Given the description of an element on the screen output the (x, y) to click on. 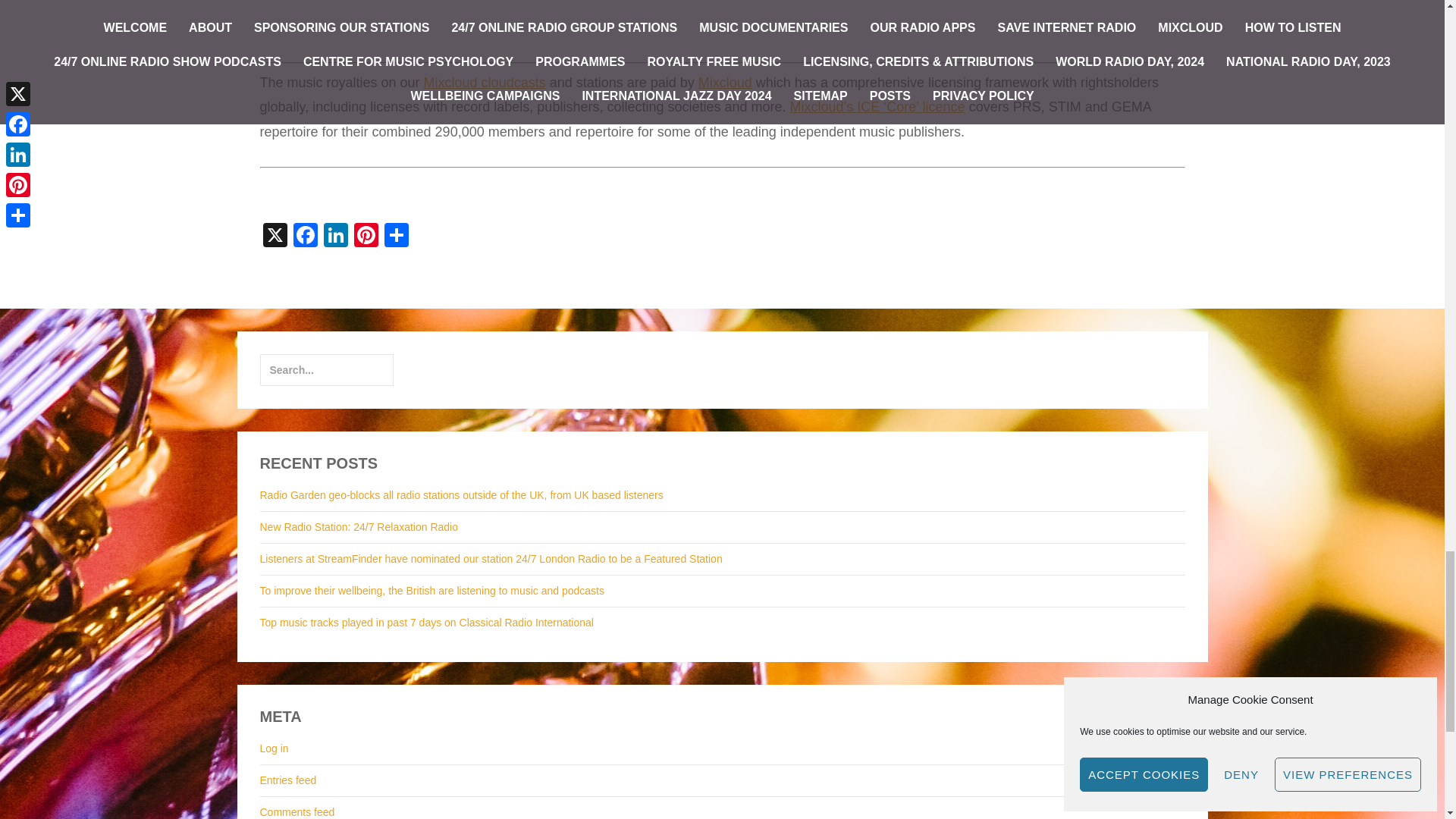
X (274, 236)
Facebook (304, 236)
Pinterest (365, 236)
Search for: (326, 369)
LinkedIn (335, 236)
